Given the description of an element on the screen output the (x, y) to click on. 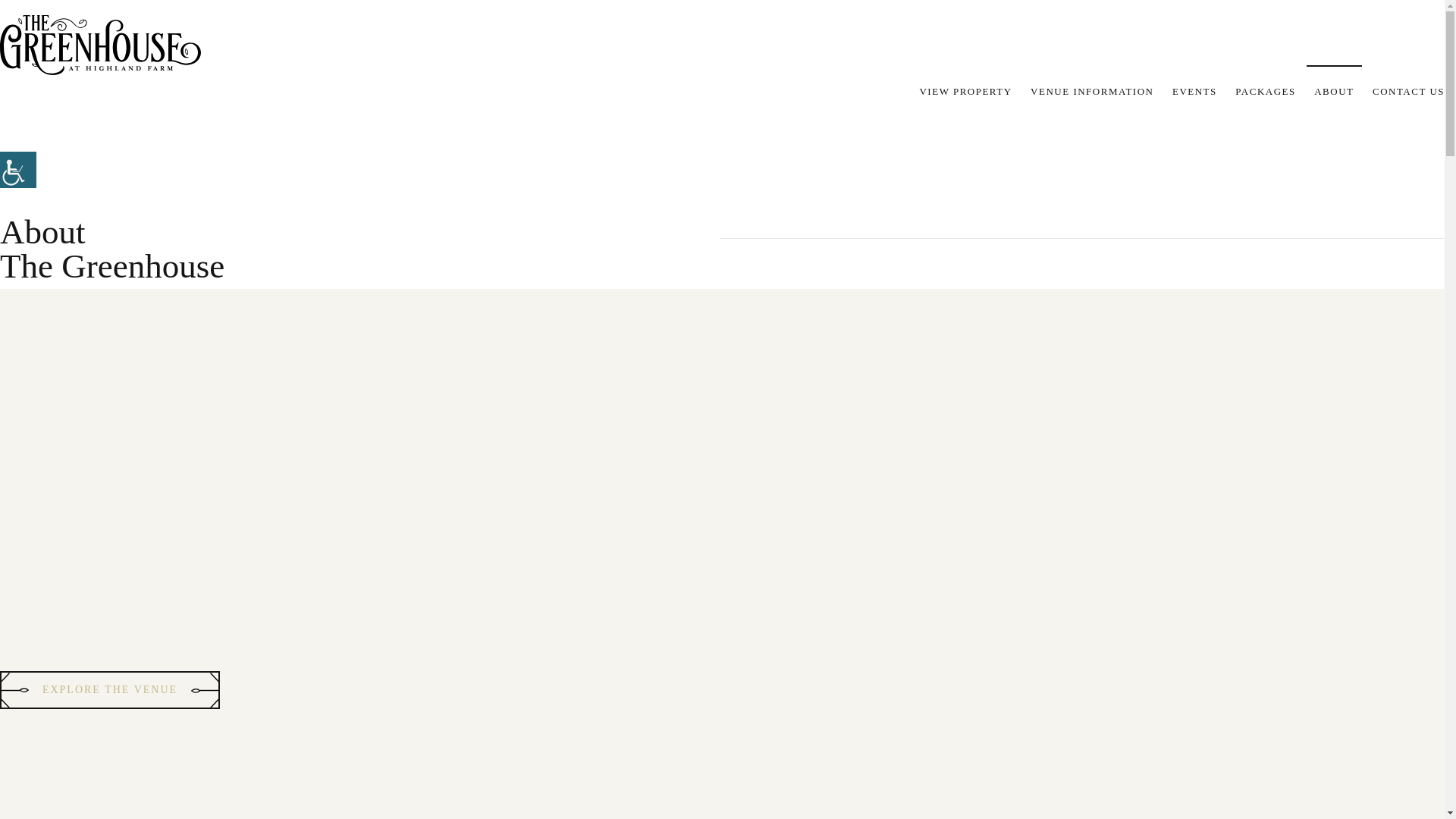
PACKAGES (1264, 91)
CONTACT US (1408, 91)
EXPLORE THE VENUE (109, 689)
VENUE INFORMATION (1091, 91)
VIEW PROPERTY (964, 91)
EVENTS (1194, 91)
ABOUT (1334, 91)
